Given the description of an element on the screen output the (x, y) to click on. 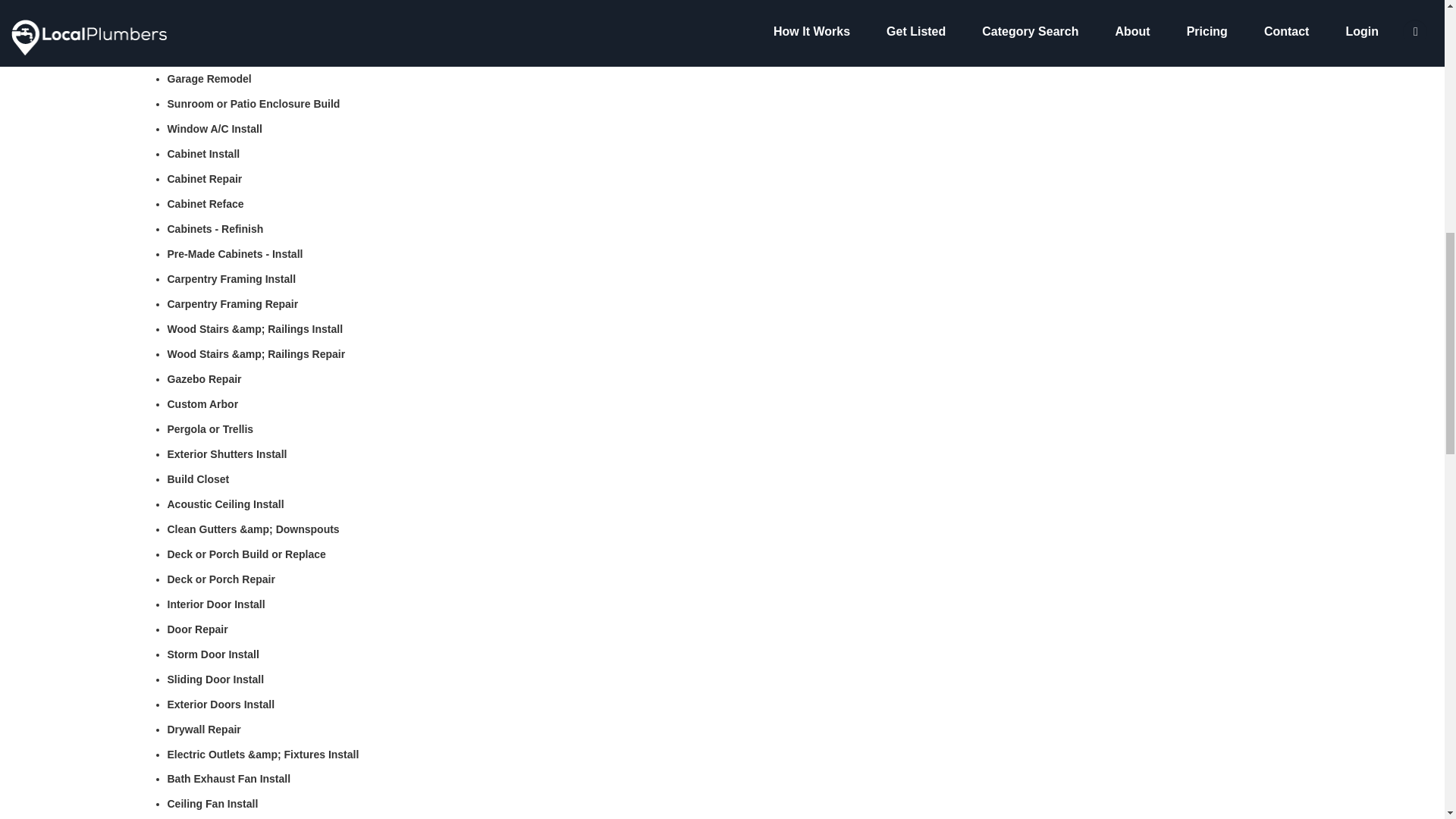
Custom Arbor (202, 404)
Pergola or Trellis (210, 428)
Pre-Made Cabinets - Install (234, 254)
Garage Remodel (208, 78)
Cabinets - Refinish (215, 228)
Acoustic Ceiling Install (225, 503)
Carpentry Framing Install (231, 278)
Deck or Porch Build or Replace (245, 553)
Exterior Shutters Install (226, 453)
Cabinet Install (203, 153)
